Given the description of an element on the screen output the (x, y) to click on. 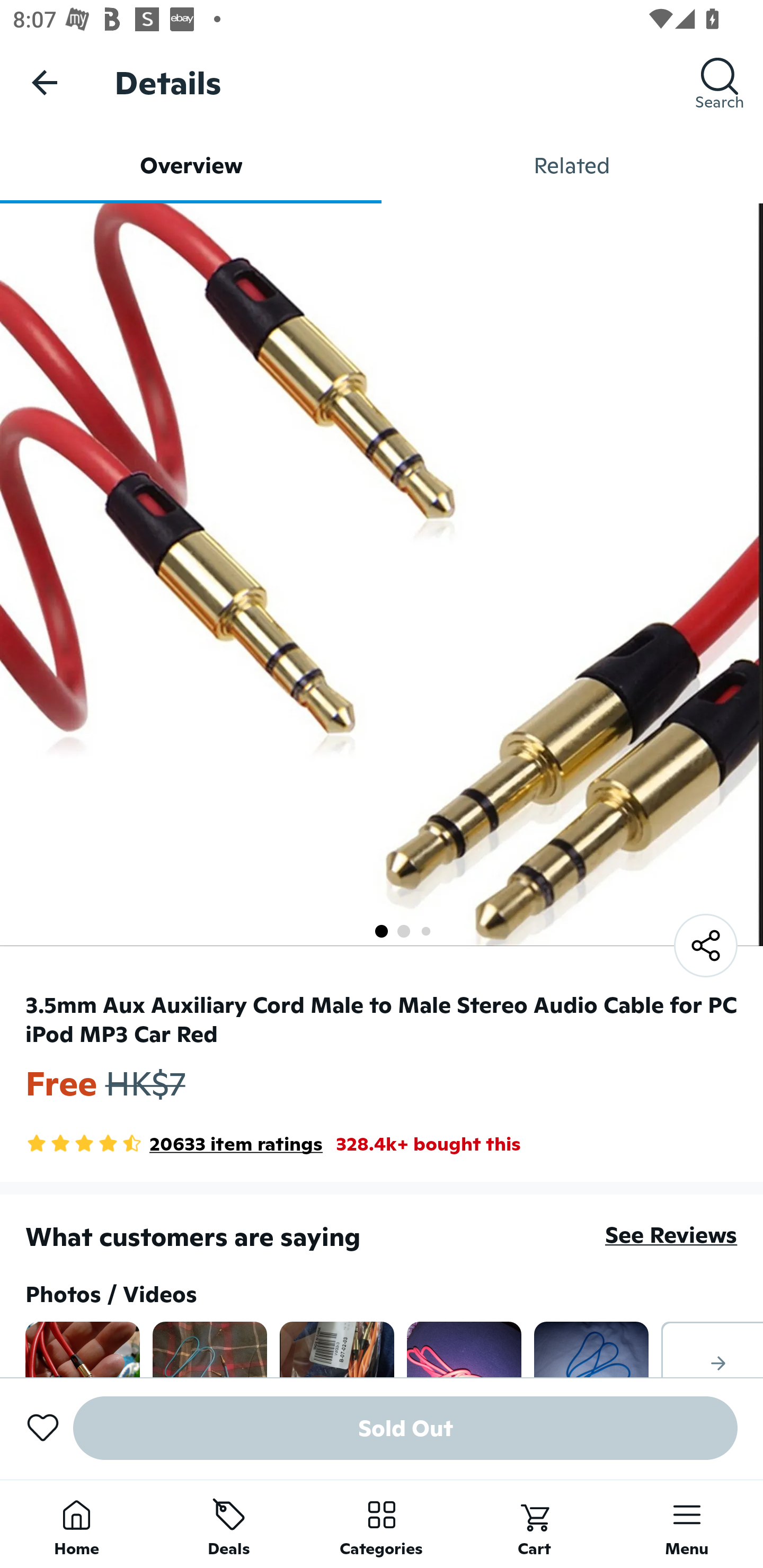
Navigate up (44, 82)
Search (719, 82)
Related (572, 165)
4.3 Star Rating 20633 item ratings (174, 1143)
See Reviews (671, 1234)
Right arrow (712, 1348)
Sold Out (405, 1428)
Home (76, 1523)
Deals (228, 1523)
Categories (381, 1523)
Cart (533, 1523)
Menu (686, 1523)
